Given the description of an element on the screen output the (x, y) to click on. 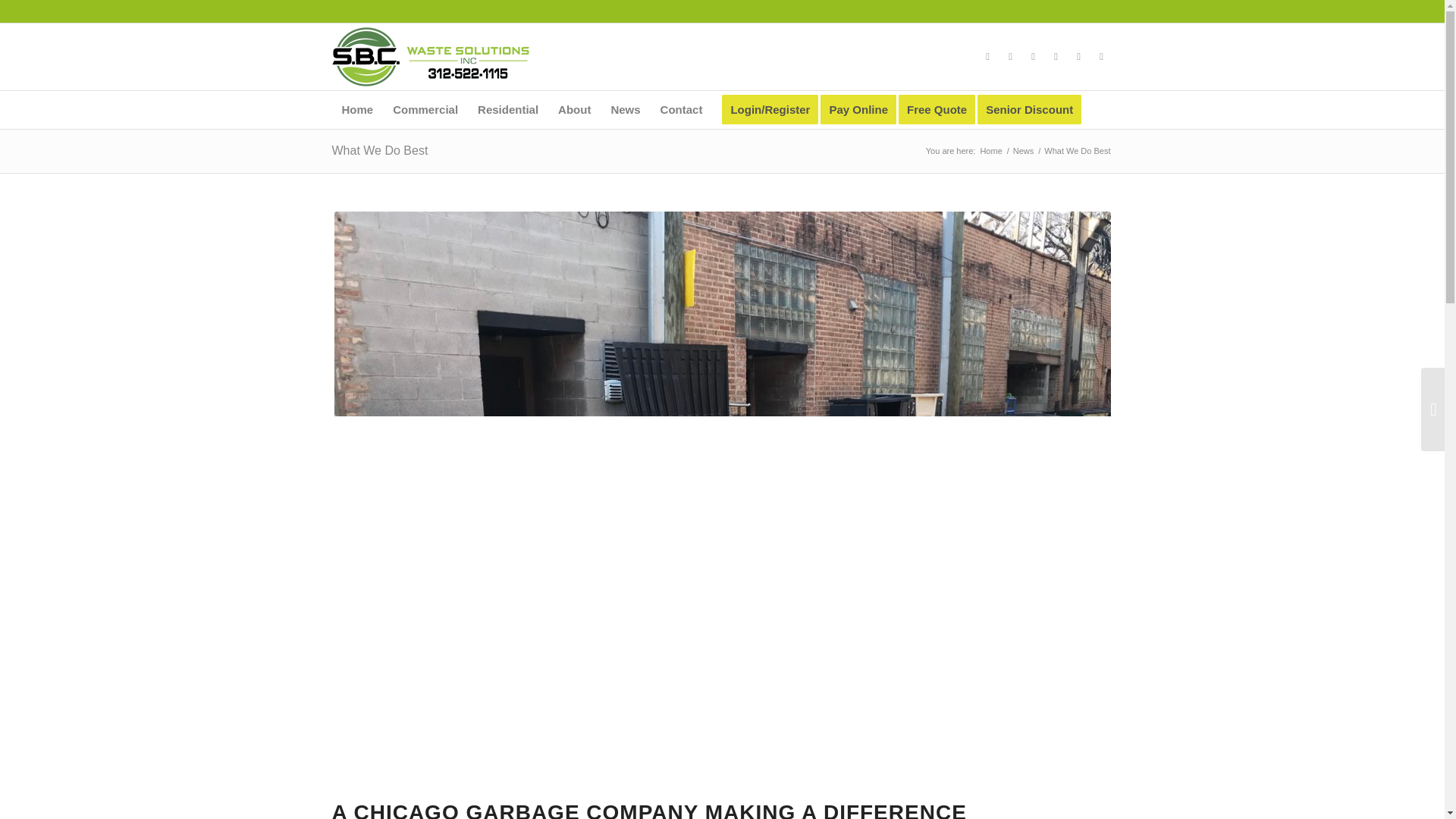
Youtube (1010, 56)
sbc-logo (430, 56)
Commercial (424, 109)
Pinterest (1078, 56)
Mail (1101, 56)
Facebook (987, 56)
SBC Waste Solutions Inc. (990, 151)
Home (357, 109)
Permanent Link: What We Do Best (379, 150)
LinkedIn (1056, 56)
Instagram (1033, 56)
Residential (507, 109)
